Given the description of an element on the screen output the (x, y) to click on. 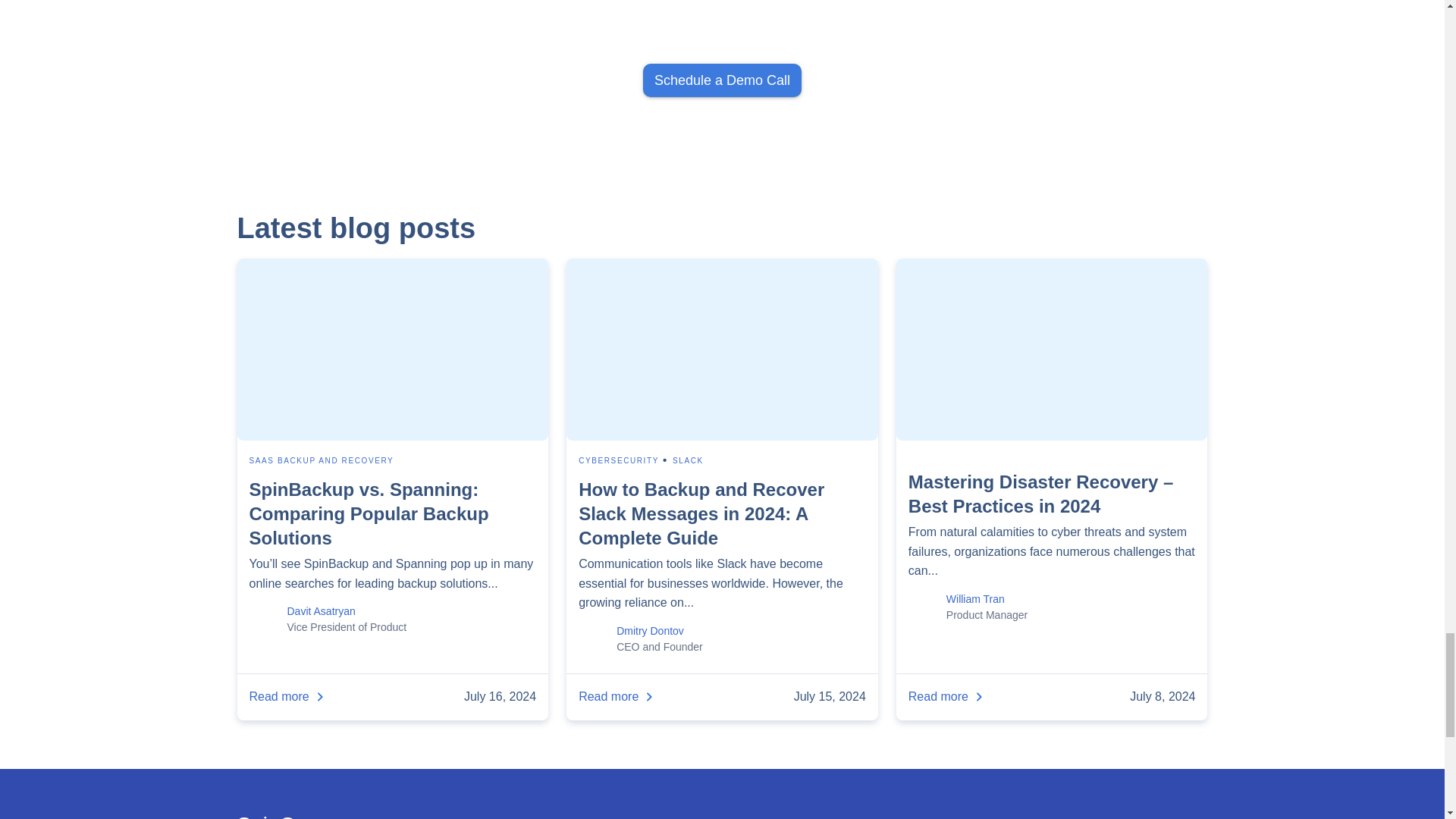
Posts by William Tran (975, 598)
Posts by Dmitry Dontov (649, 630)
Posts by Davit Asatryan (320, 611)
